Given the description of an element on the screen output the (x, y) to click on. 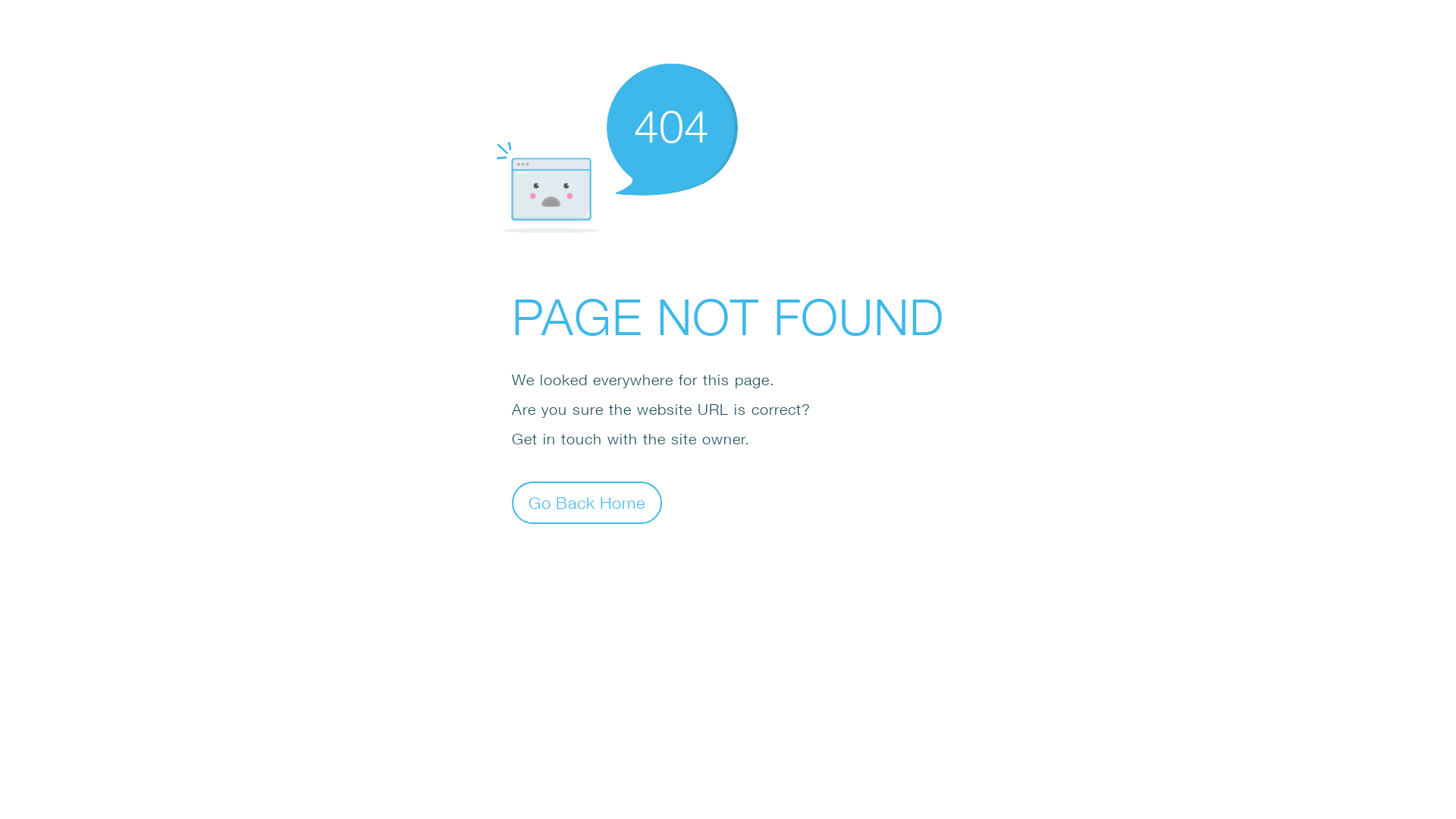
Go Back Home Element type: text (586, 502)
